Given the description of an element on the screen output the (x, y) to click on. 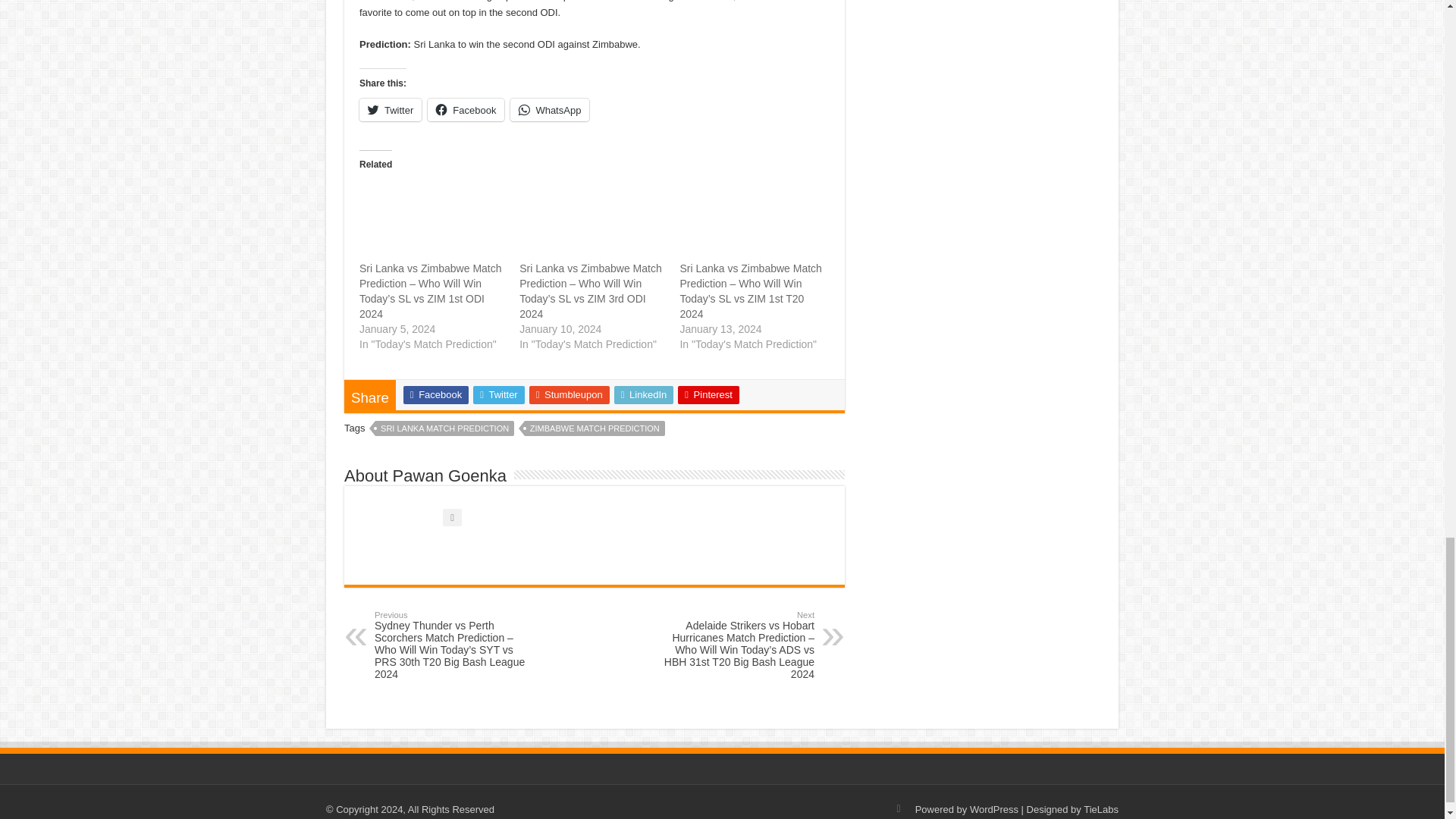
Twitter (390, 109)
Facebook (465, 109)
